Given the description of an element on the screen output the (x, y) to click on. 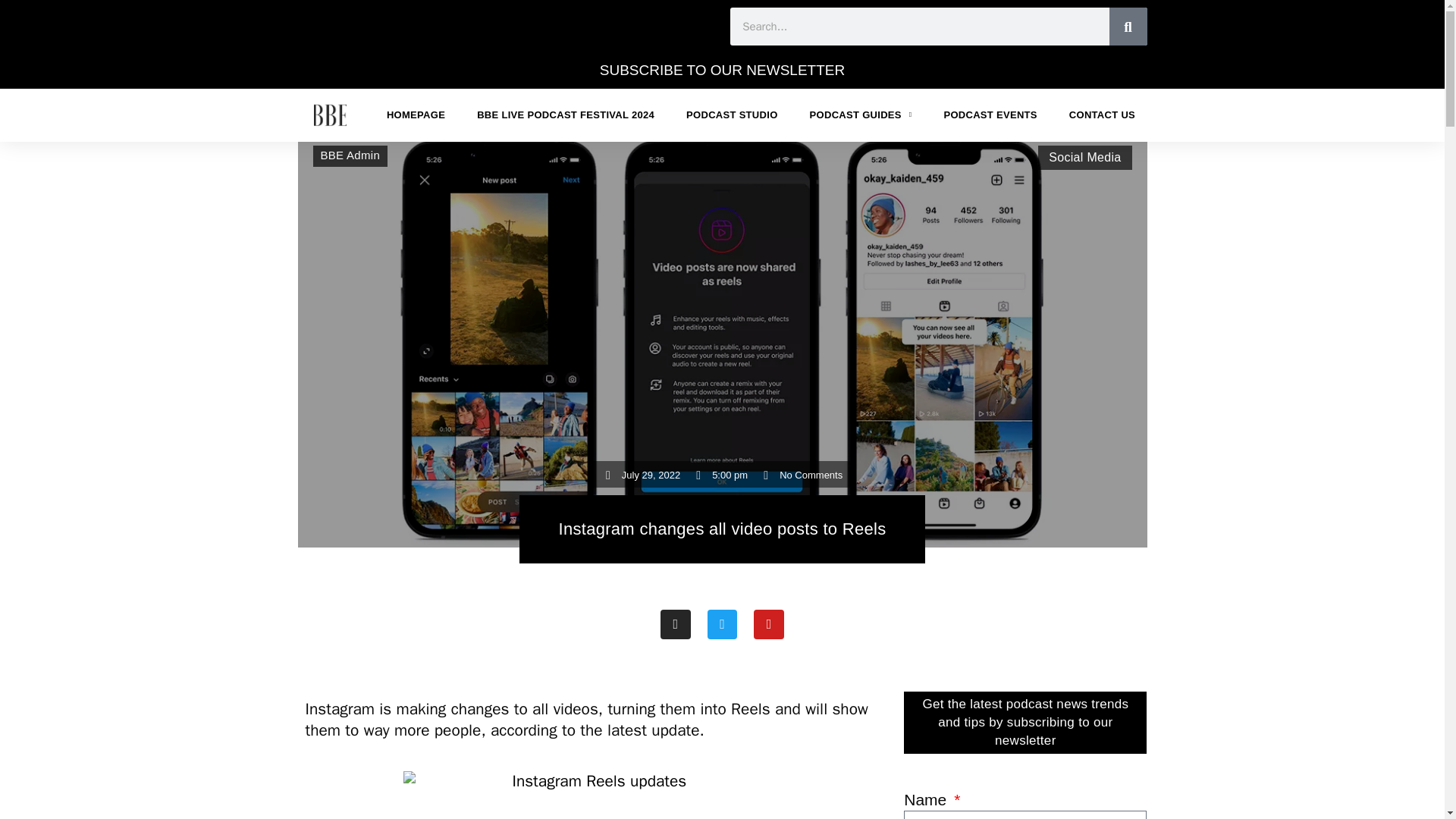
Social Media (1084, 156)
PODCAST GUIDES (860, 114)
PODCAST EVENTS (989, 114)
HOMEPAGE (416, 114)
BBE LIVE PODCAST FESTIVAL 2024 (565, 114)
SUBSCRIBE TO OUR NEWSLETTER (721, 69)
CONTACT US (1101, 114)
PODCAST STUDIO (731, 114)
